Given the description of an element on the screen output the (x, y) to click on. 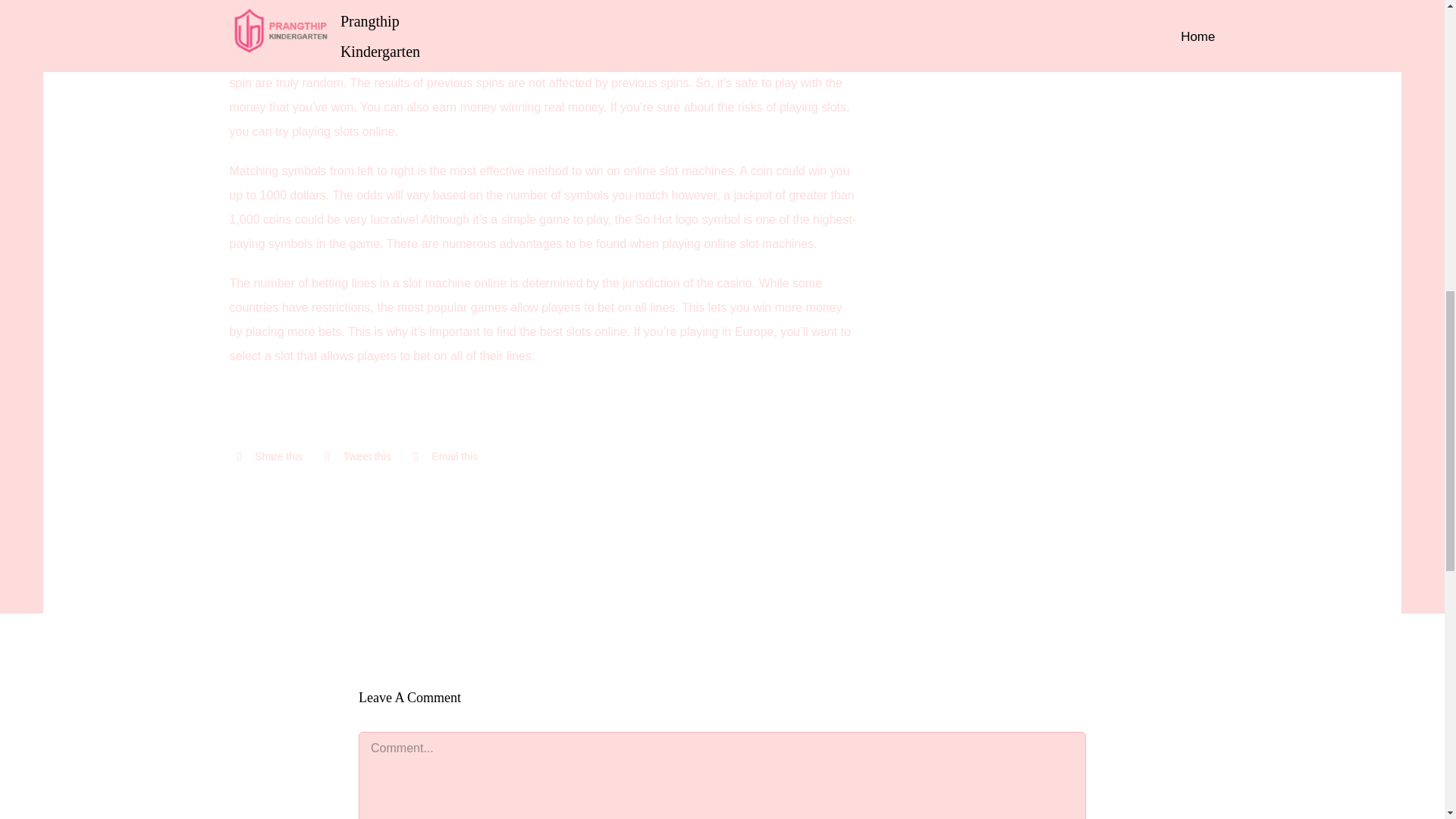
Email this (441, 455)
Tweet this (354, 455)
Share this (265, 455)
Learn more about us (1025, 35)
